Given the description of an element on the screen output the (x, y) to click on. 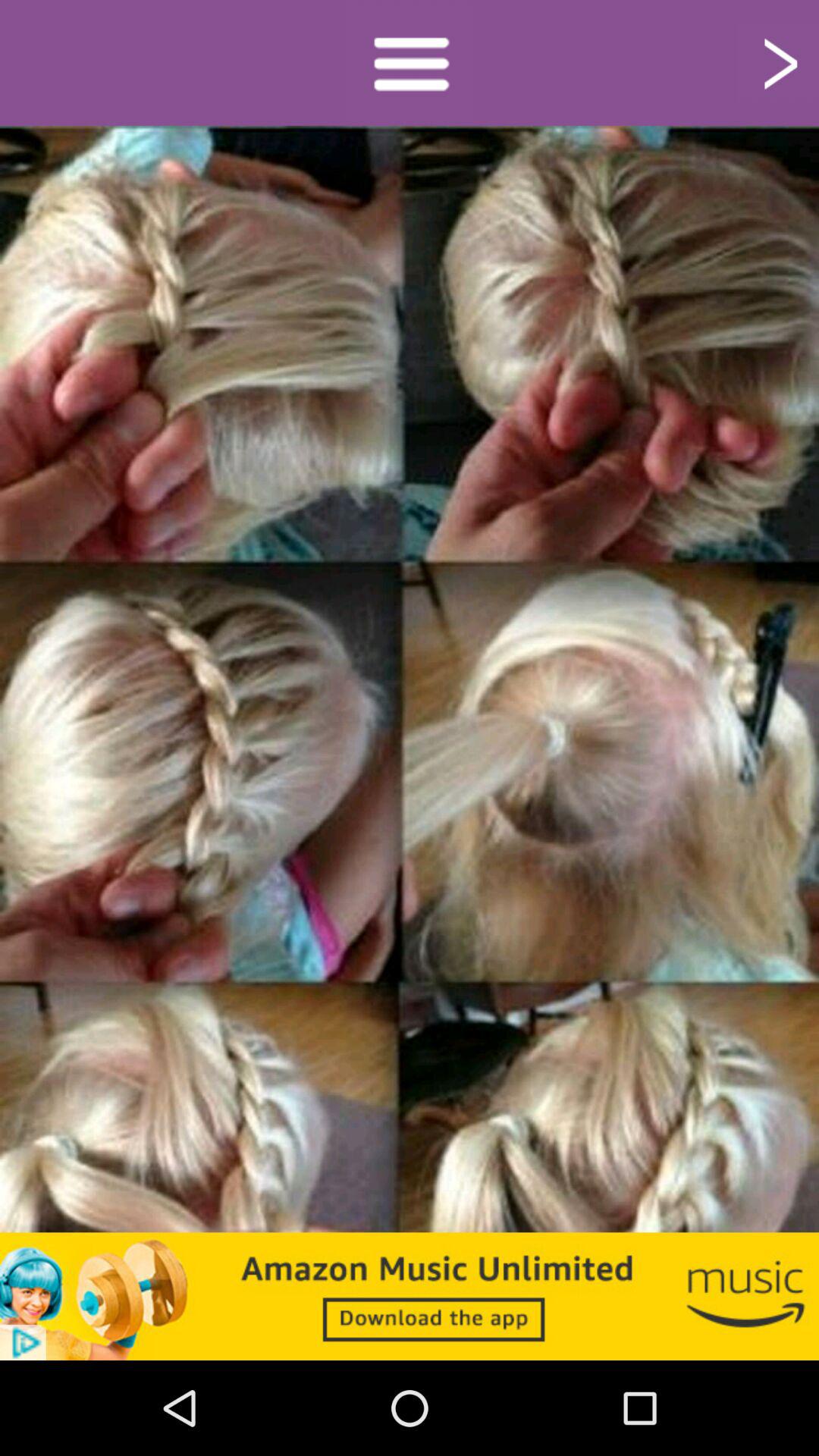
access gallery (409, 62)
